Given the description of an element on the screen output the (x, y) to click on. 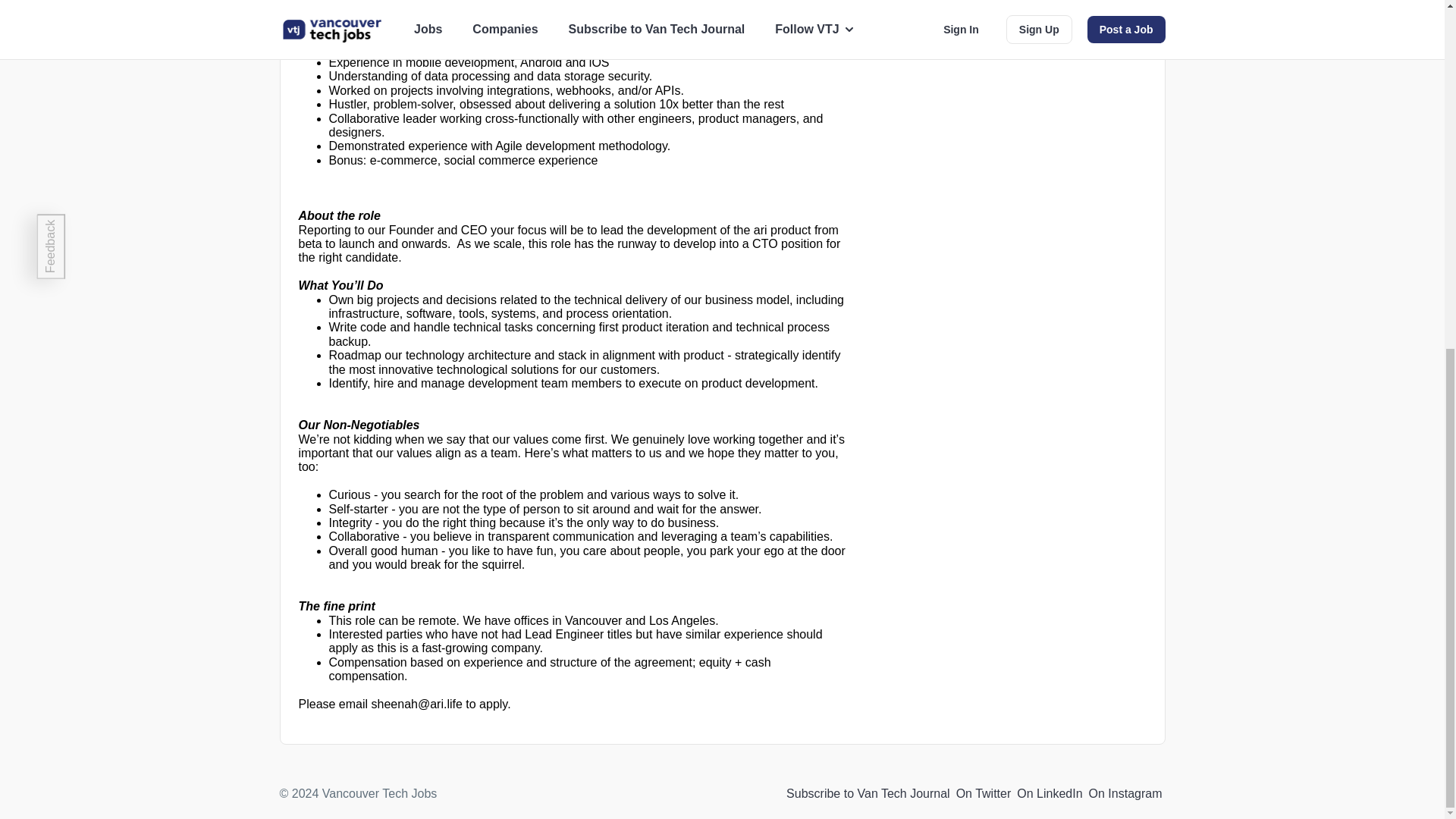
Subscribe to Van Tech Journal (868, 793)
On Instagram (1126, 793)
On LinkedIn (1048, 793)
On Twitter (983, 793)
